Given the description of an element on the screen output the (x, y) to click on. 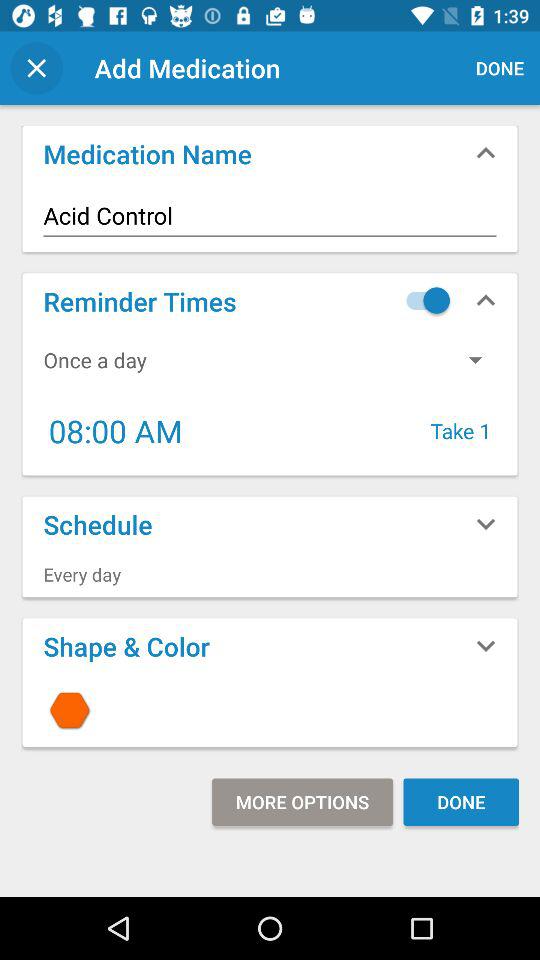
reminder times (423, 300)
